Given the description of an element on the screen output the (x, y) to click on. 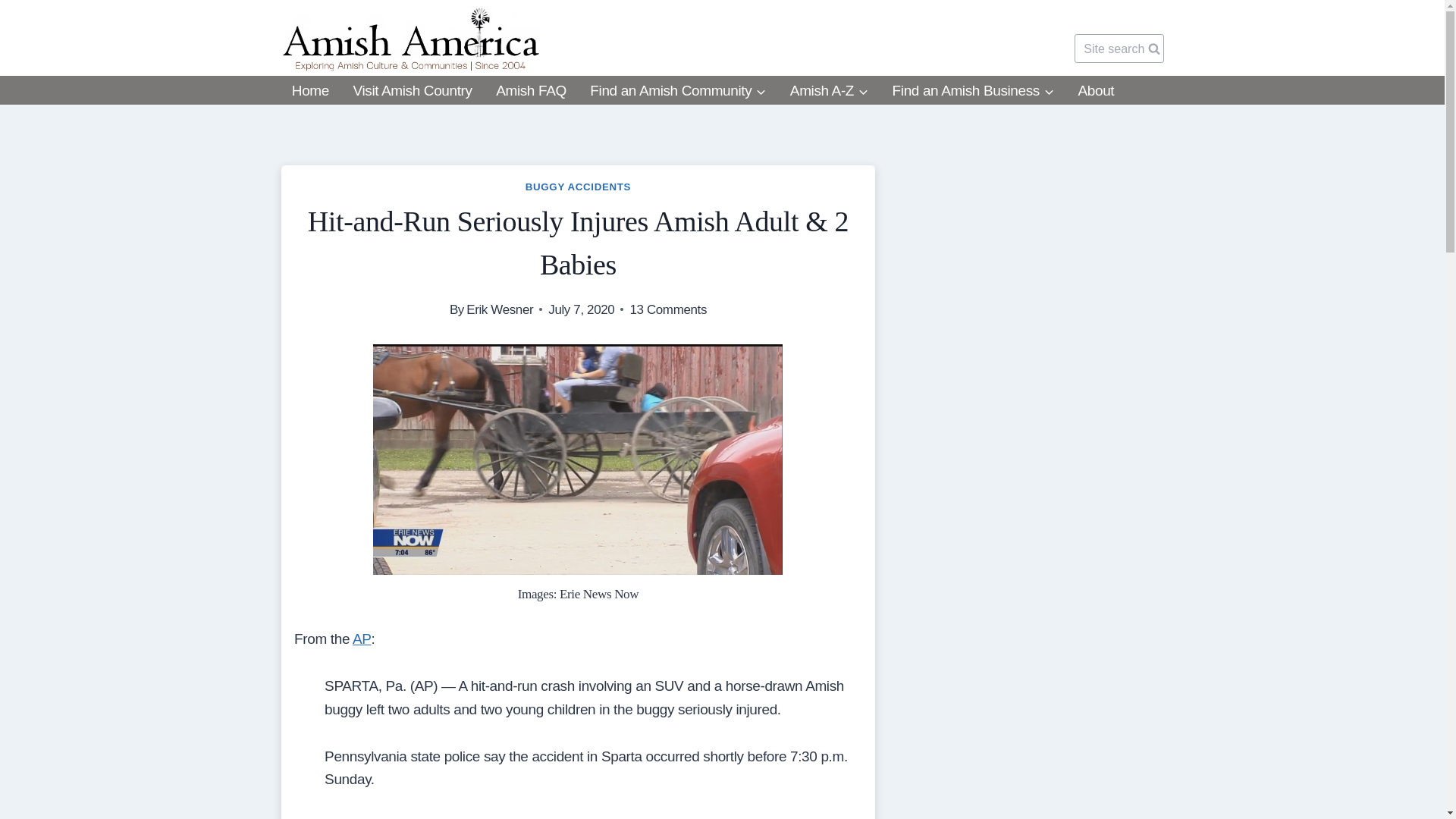
Visit Amish Country (412, 90)
Homepage (309, 90)
A-Z Guide to Amish Topics (828, 90)
Amish A-Z (828, 90)
13 Comments (667, 309)
About (1095, 90)
Site search (1118, 48)
Erik Wesner (498, 309)
Find an Amish Business (972, 90)
BUGGY ACCIDENTS (577, 186)
Amish FAQ (530, 90)
Find an Amish Community (678, 90)
13 Comments (667, 309)
Home (309, 90)
AP (361, 638)
